Given the description of an element on the screen output the (x, y) to click on. 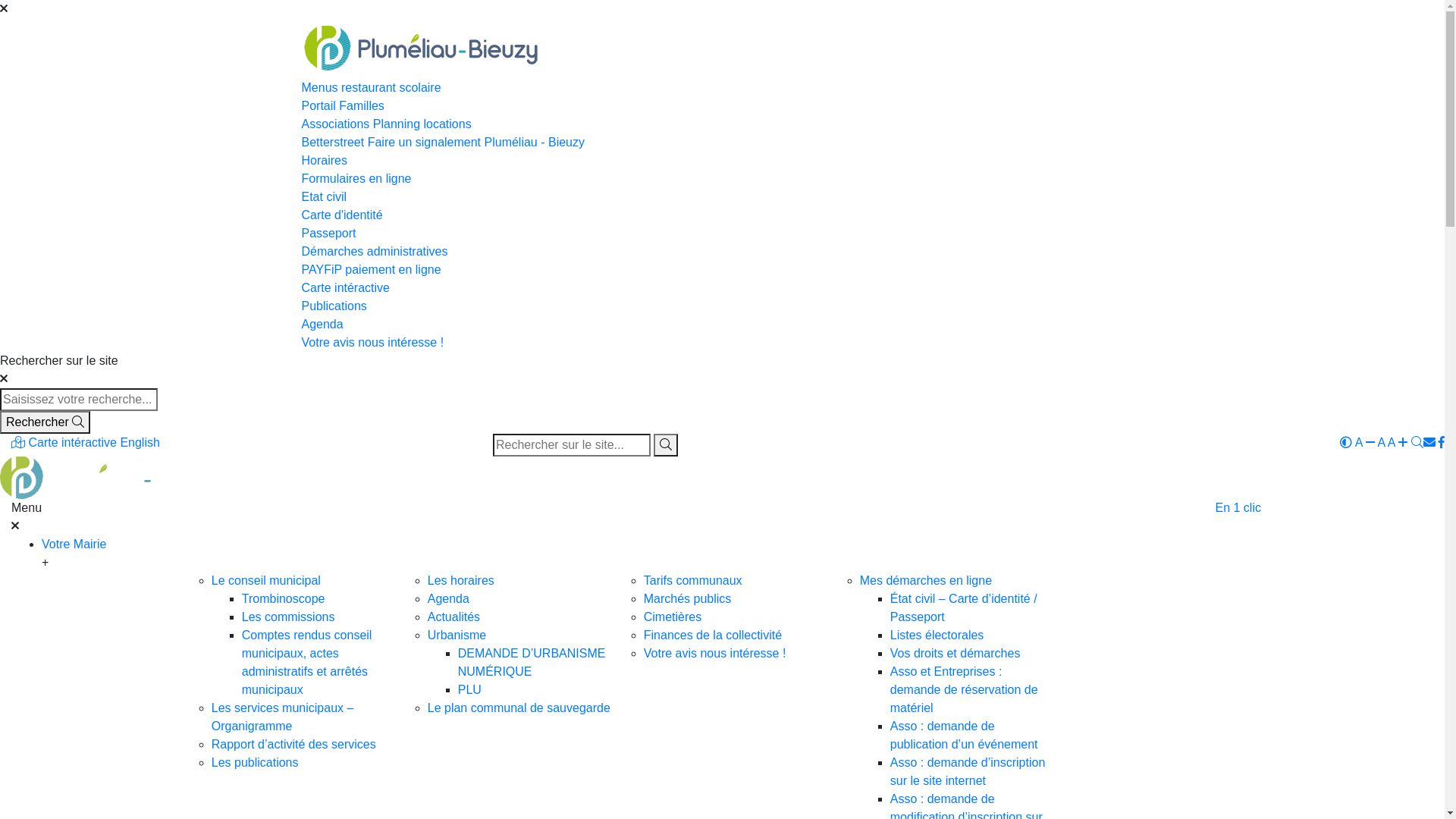
Le plan communal de sauvegarde Element type: text (518, 707)
Rechercher Element type: text (45, 422)
Formulaires en ligne Element type: text (722, 178)
Accueil Element type: hover (108, 476)
Votre Mairie Element type: text (616, 551)
Agenda Element type: text (448, 598)
En 1 clic Element type: text (1237, 507)
Menus restaurant scolaire Element type: text (722, 87)
Publications Element type: text (722, 306)
Rechercher Element type: hover (571, 444)
Trombinoscope Element type: text (283, 598)
Urbanisme Element type: text (456, 634)
Rechercher Element type: hover (665, 444)
English Element type: text (139, 442)
Horaires Element type: text (722, 160)
Les publications Element type: text (254, 762)
Contactez-nous Element type: hover (1429, 442)
Les horaires Element type: text (460, 580)
Rejoignez-nous sur Facebook Element type: hover (1441, 442)
Le conseil municipal Element type: text (265, 580)
A Element type: text (1399, 442)
Contraste Element type: hover (1347, 442)
Tarifs communaux Element type: text (692, 580)
A Element type: text (1366, 442)
Les commissions Element type: text (288, 616)
Portail Familles Element type: text (722, 106)
Agenda Element type: text (722, 324)
A Element type: text (1381, 442)
Associations Planning locations Element type: text (722, 124)
Rechercher Element type: hover (1416, 442)
PLU Element type: text (469, 689)
Saisissez votre recherche Element type: hover (78, 399)
PAYFiP paiement en ligne Element type: text (722, 269)
